Given the description of an element on the screen output the (x, y) to click on. 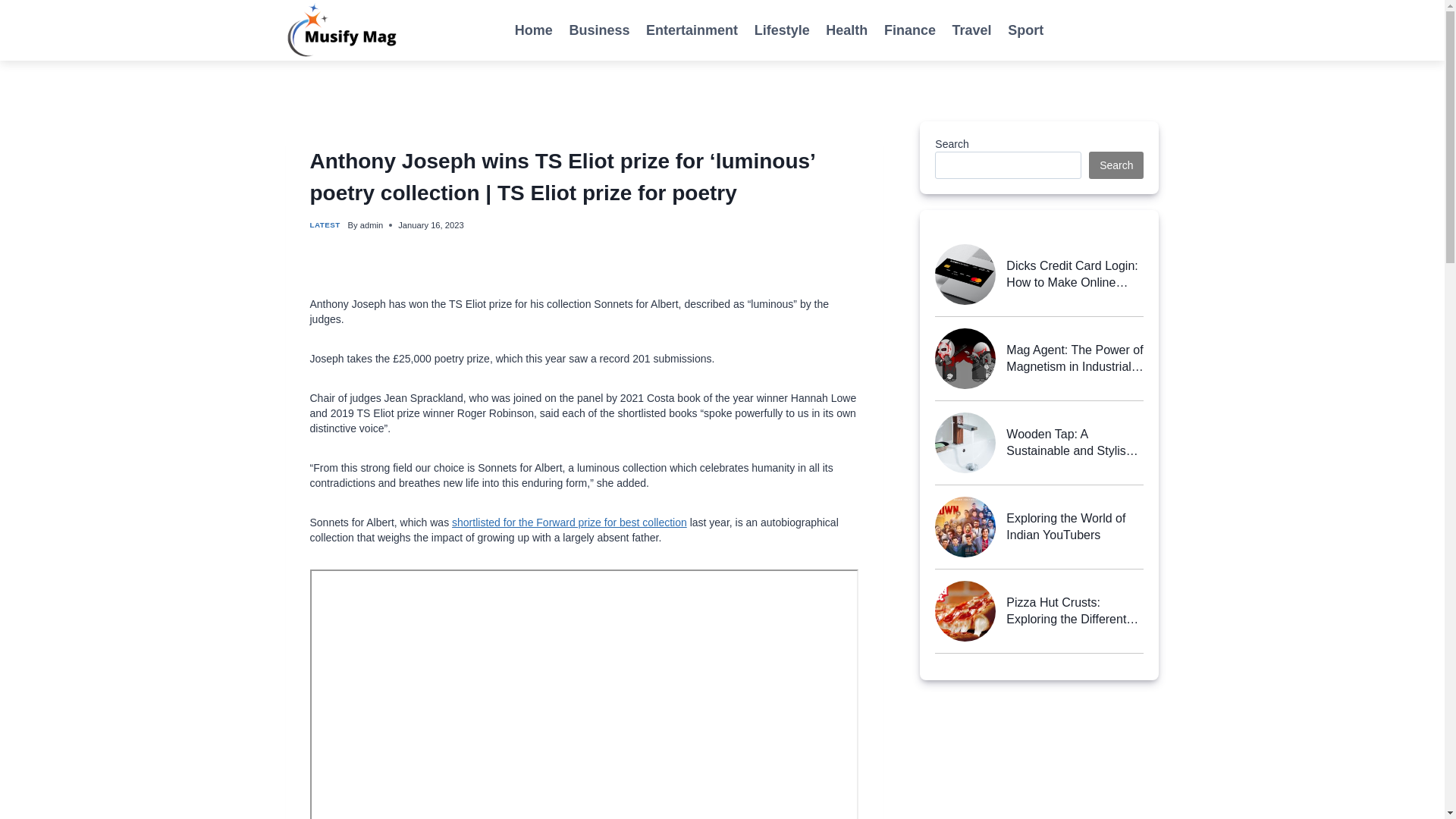
Lifestyle (781, 29)
Business (599, 29)
shortlisted for the Forward prize for best collection (569, 522)
Travel (971, 29)
LATEST (323, 224)
Finance (909, 29)
admin (370, 225)
Health (847, 29)
Home (533, 29)
Entertainment (691, 29)
Sport (1024, 29)
